Given the description of an element on the screen output the (x, y) to click on. 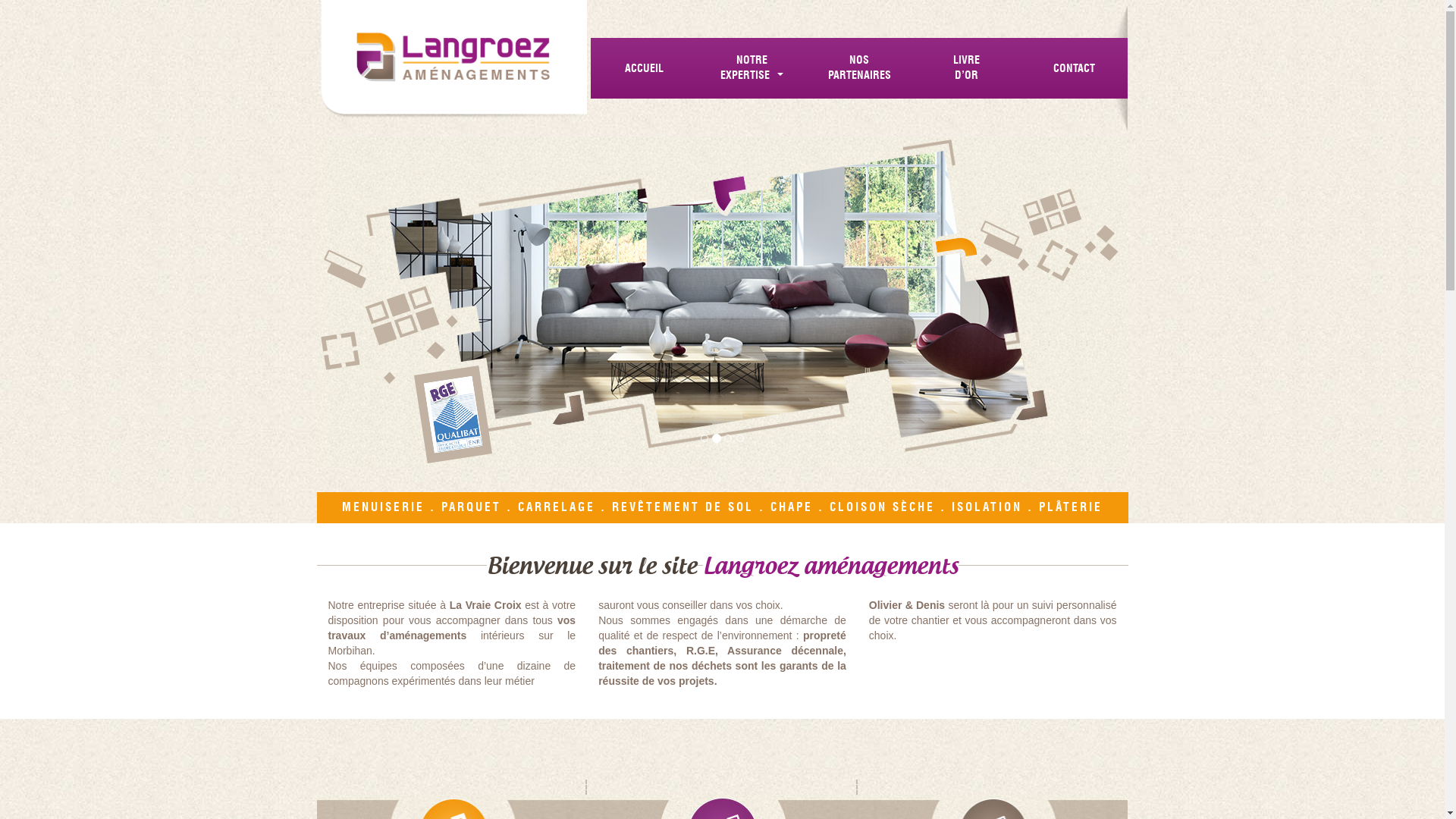
CONTACT Element type: text (1074, 67)
NOTRE
EXPERTISE... Element type: text (752, 67)
ACCUEIL Element type: text (644, 67)
LIVRE
D'OR Element type: text (966, 67)
NOS
PARTENAIRES Element type: text (859, 67)
